Given the description of an element on the screen output the (x, y) to click on. 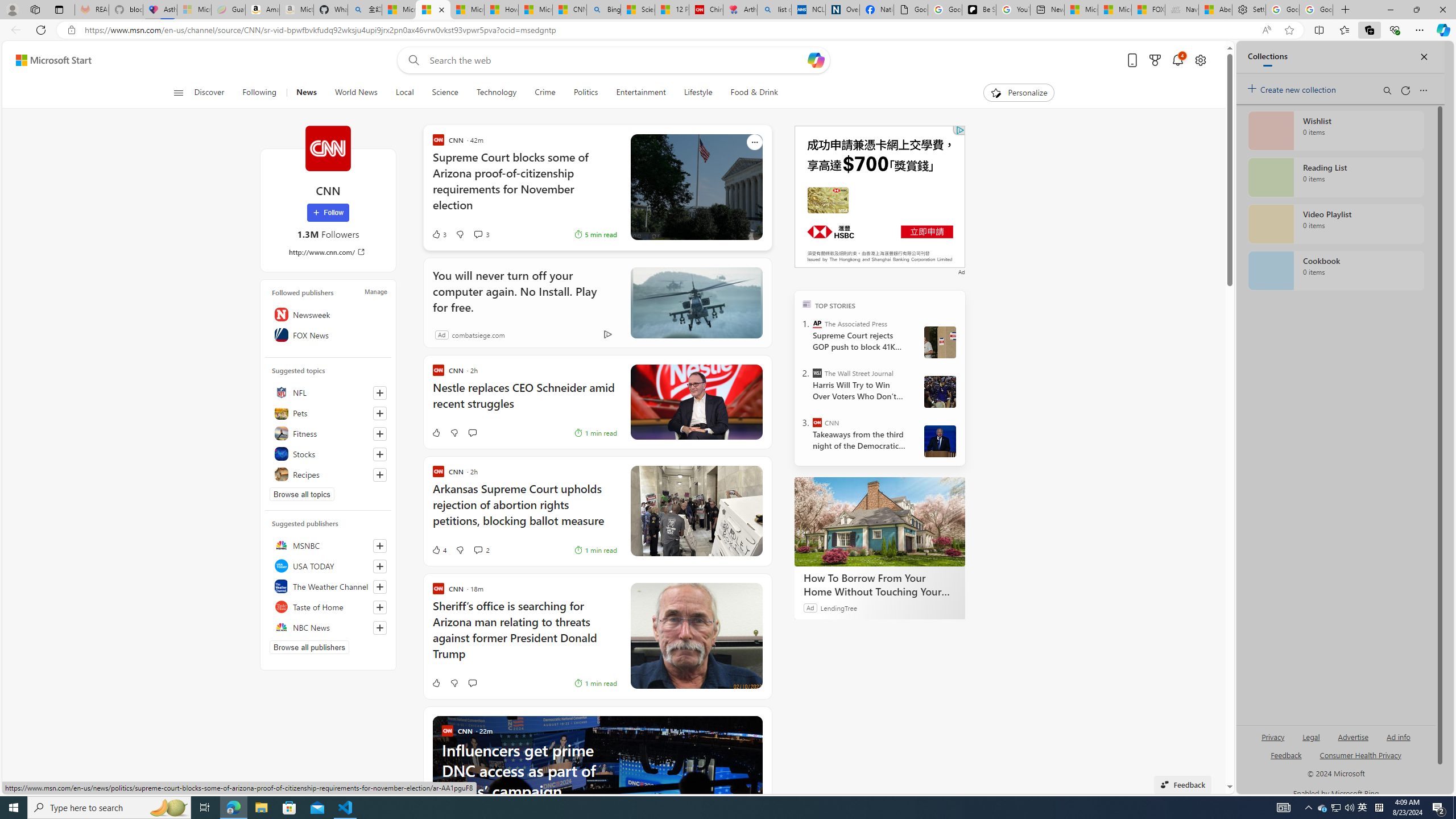
Skip to content (49, 59)
Open settings (1199, 60)
How To Borrow From Your Home Without Touching Your Mortgage (879, 584)
Open navigation menu (177, 92)
LendingTree (838, 607)
How To Borrow From Your Home Without Touching Your Mortgage (879, 521)
To get missing image descriptions, open the context menu. (995, 92)
Browse all topics (301, 494)
Aberdeen, Hong Kong SAR hourly forecast | Microsoft Weather (1215, 9)
Feedback (1182, 784)
Lifestyle (698, 92)
